Given the description of an element on the screen output the (x, y) to click on. 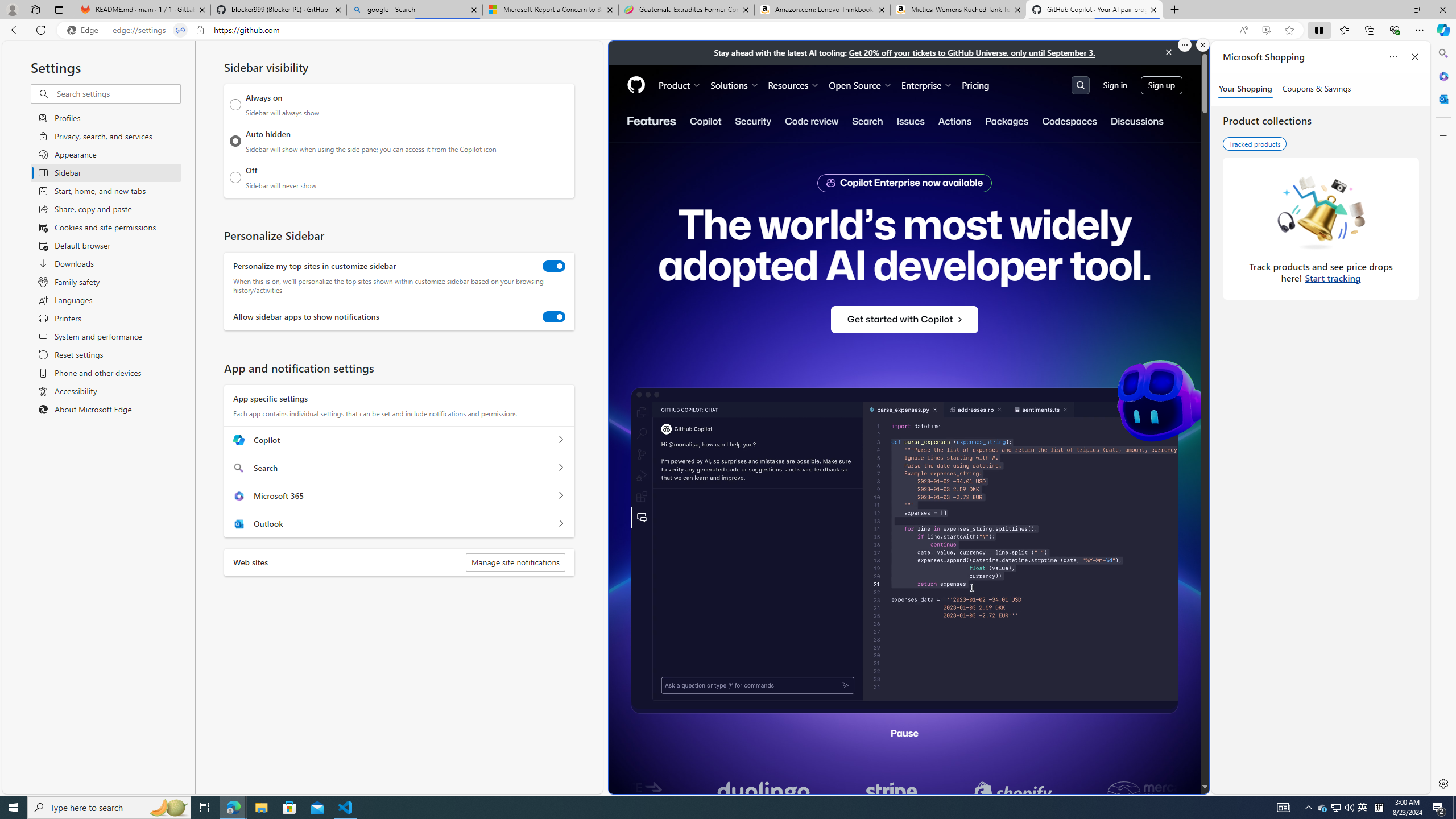
Open Source (860, 84)
Resources (793, 84)
Packages (1007, 120)
Security (753, 120)
Open Source (860, 84)
Personalize my top sites in customize sidebar (553, 265)
Tabs in split screen (180, 29)
Solutions (735, 84)
Copilot (560, 439)
